Given the description of an element on the screen output the (x, y) to click on. 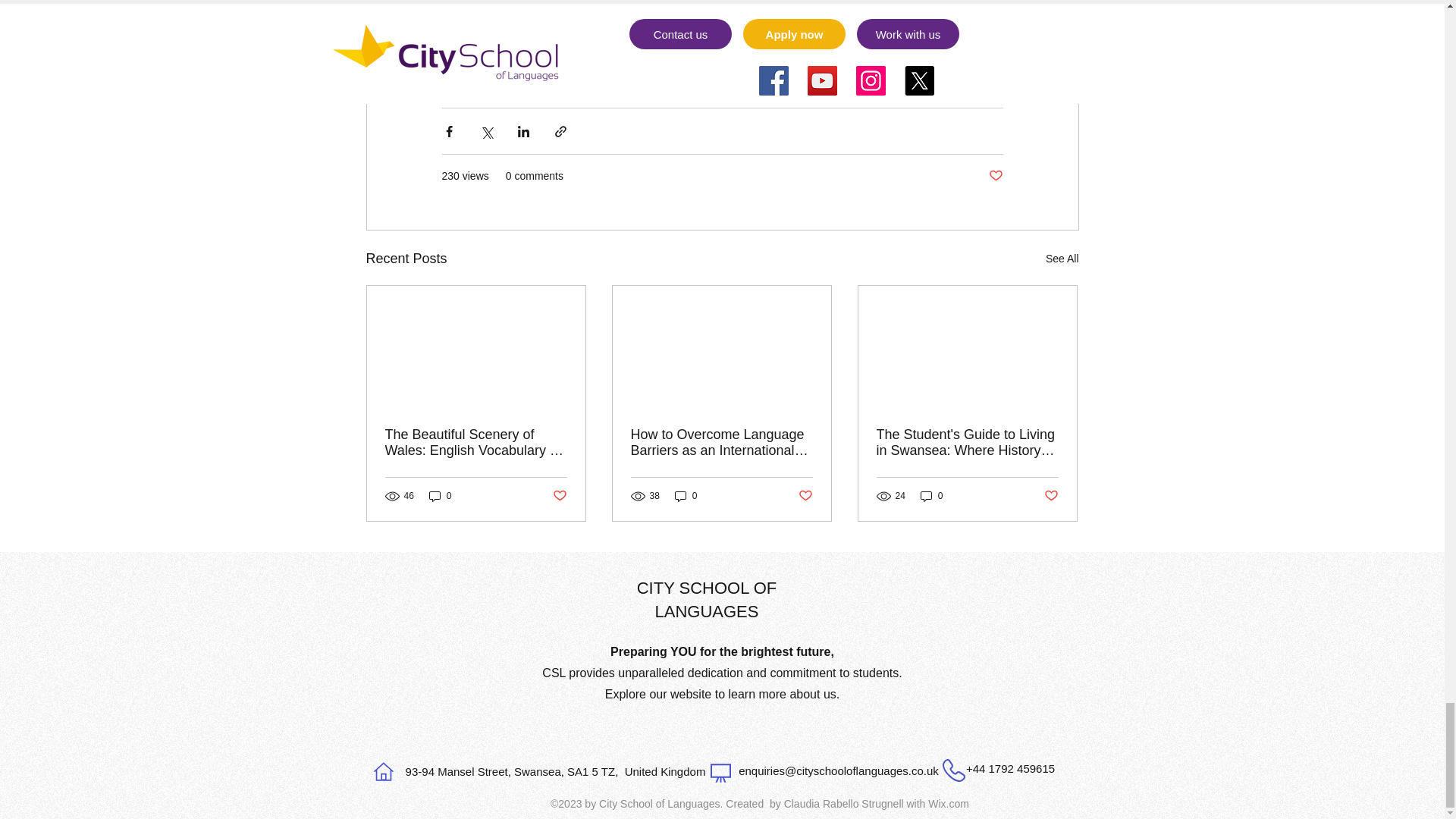
coffee (900, 73)
Wales (465, 73)
UK (513, 73)
Language School (749, 73)
Swansea (838, 73)
British (561, 73)
english language (642, 73)
